Given the description of an element on the screen output the (x, y) to click on. 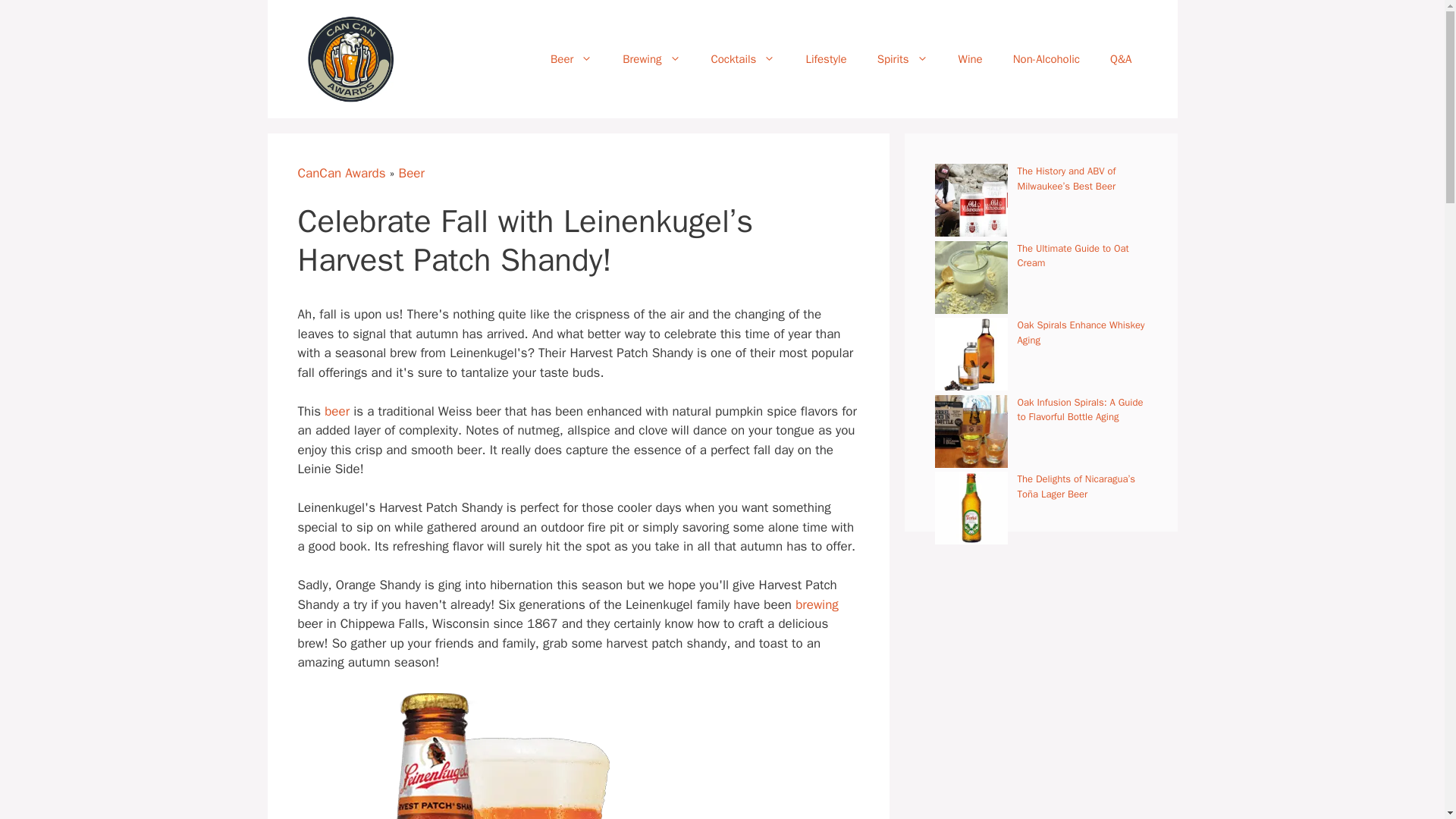
Lifestyle (825, 58)
Cocktails (742, 58)
Oak Infusion Spirals: A Guide to Flavorful Bottle Aging 5 (970, 430)
Brewing (651, 58)
Wine (970, 58)
Spirits (902, 58)
Celebrate Fall with Leinenkugel's Harvest Patch Shandy! 1 (484, 755)
The History and ABV of Milwaukee's Best Beer 2 (970, 199)
The Ultimate Guide to Oat Cream 3 (970, 276)
Oak Spirals Enhance Whiskey Aging 4 (970, 353)
Beer (571, 58)
Non-Alcoholic (1045, 58)
